Given the description of an element on the screen output the (x, y) to click on. 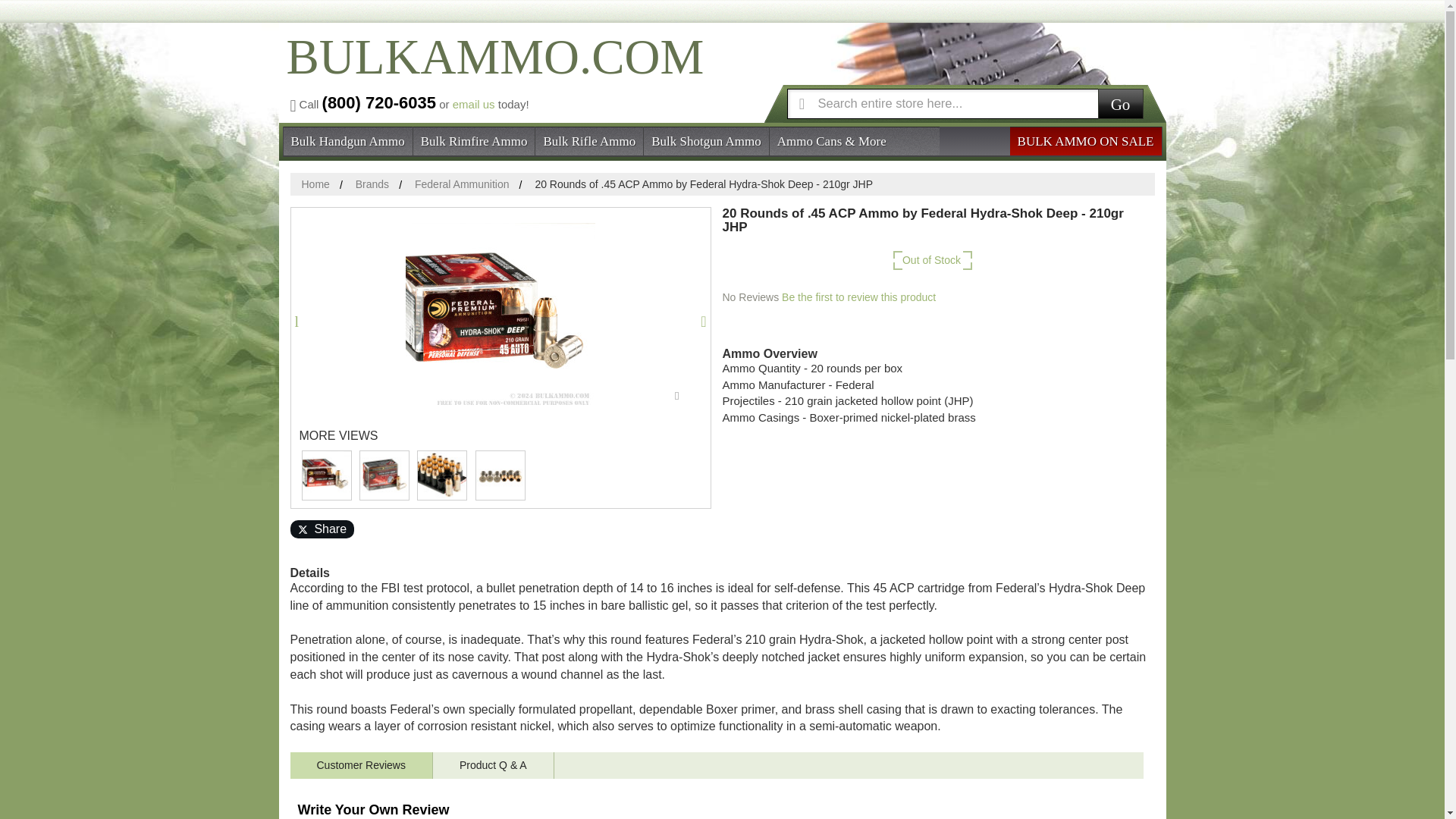
Home (315, 183)
BULKAMMO.COM (491, 69)
email us (473, 103)
Federal Ammunition (461, 183)
Bulk Rifle Ammo (589, 140)
Go (1119, 102)
Brands (371, 183)
Bulk Handgun Ammo (347, 140)
Bulk Ammo For Sale (491, 69)
Go (1119, 102)
Bulk Rimfire Ammo (474, 140)
